Given the description of an element on the screen output the (x, y) to click on. 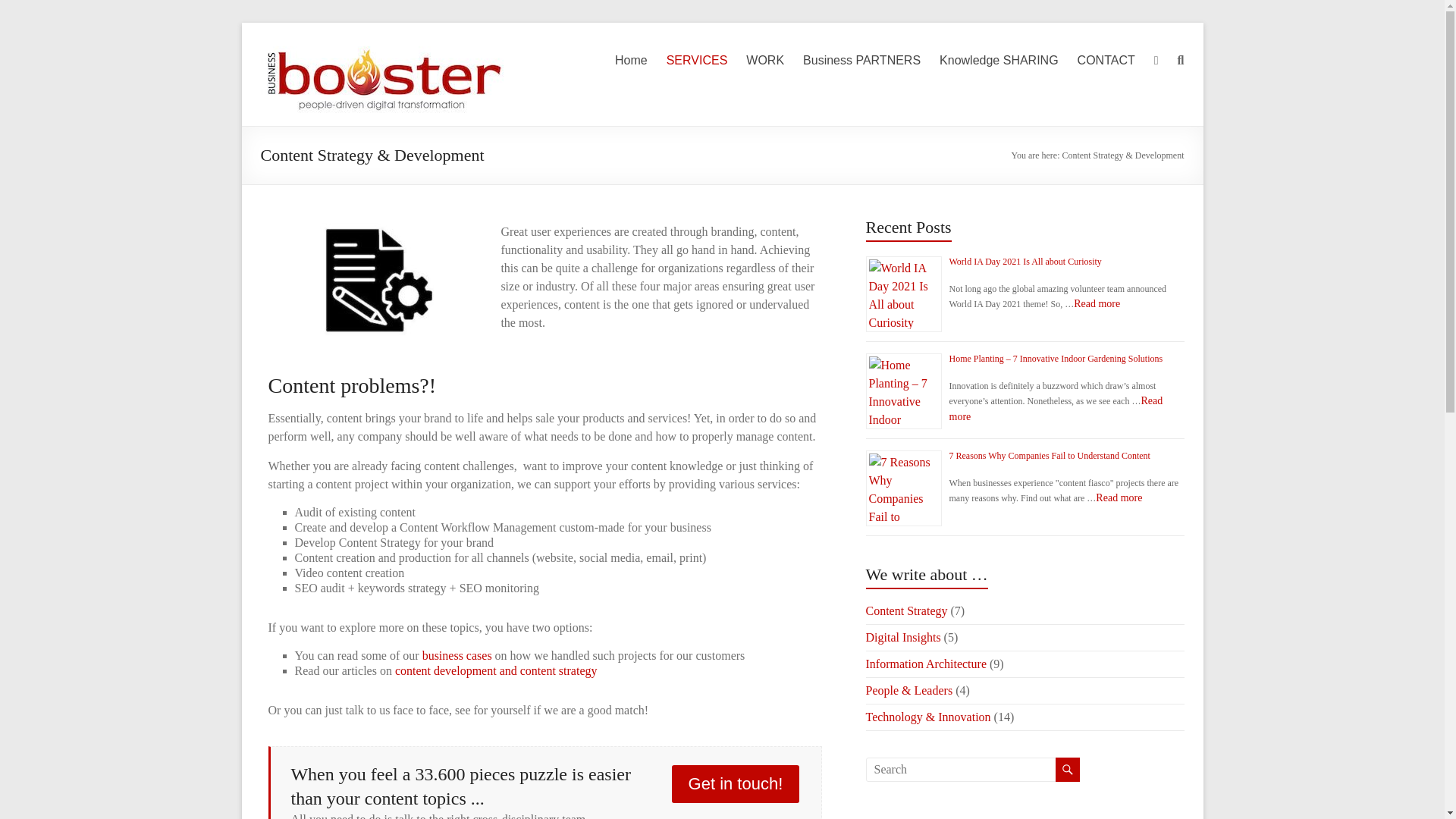
Home (630, 60)
SERVICES (697, 60)
Content Strategy (906, 610)
Business PARTNERS (861, 60)
Read more (1118, 497)
Read more (1096, 303)
business cases (457, 655)
Information Architecture (926, 663)
Read more (1056, 408)
Digital Insights (903, 636)
